Given the description of an element on the screen output the (x, y) to click on. 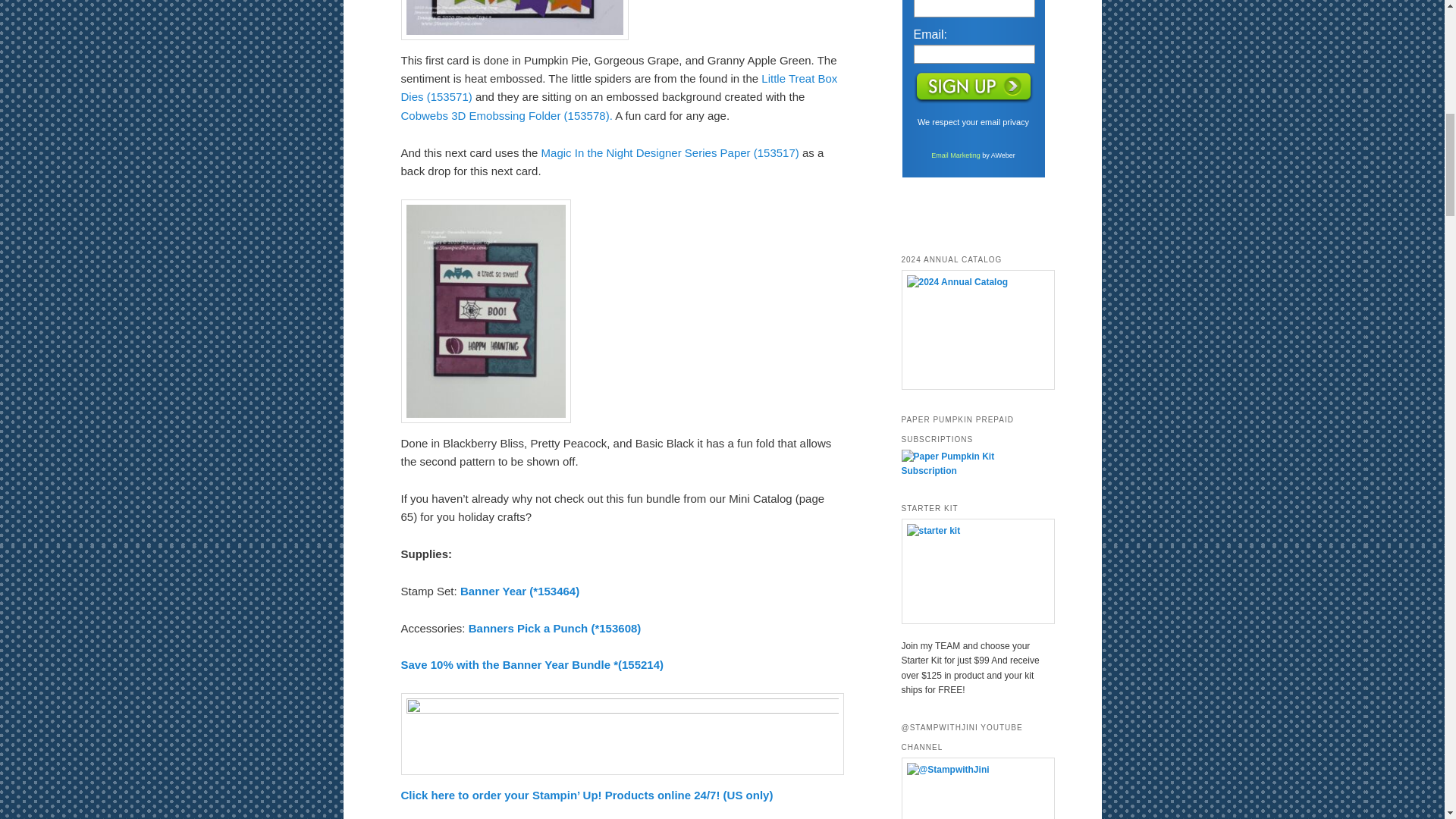
2024 Annual Catalog  (972, 329)
Paper Pumpkin Prepaid Subscriptions (972, 470)
Email Marketing (955, 154)
starter kit (972, 571)
